Given the description of an element on the screen output the (x, y) to click on. 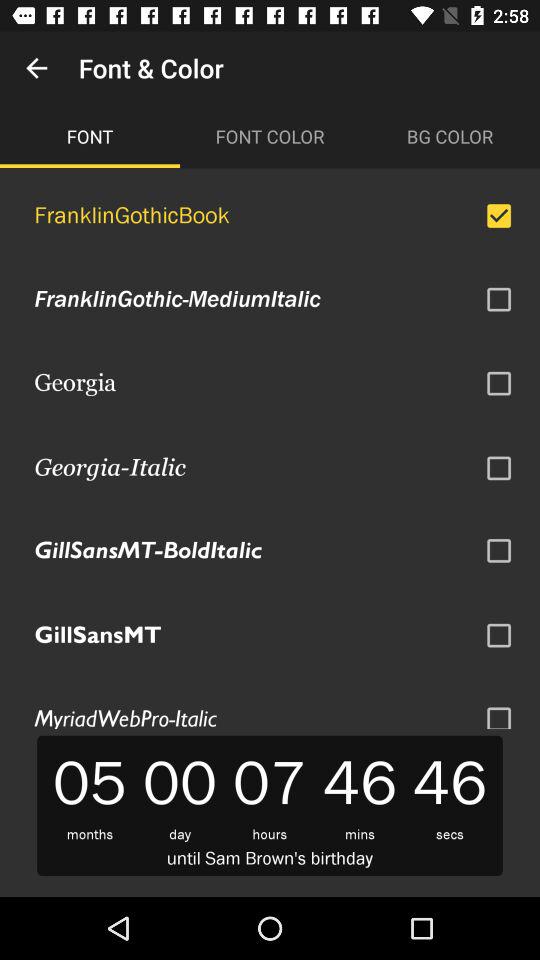
launch the item above the font item (36, 68)
